Given the description of an element on the screen output the (x, y) to click on. 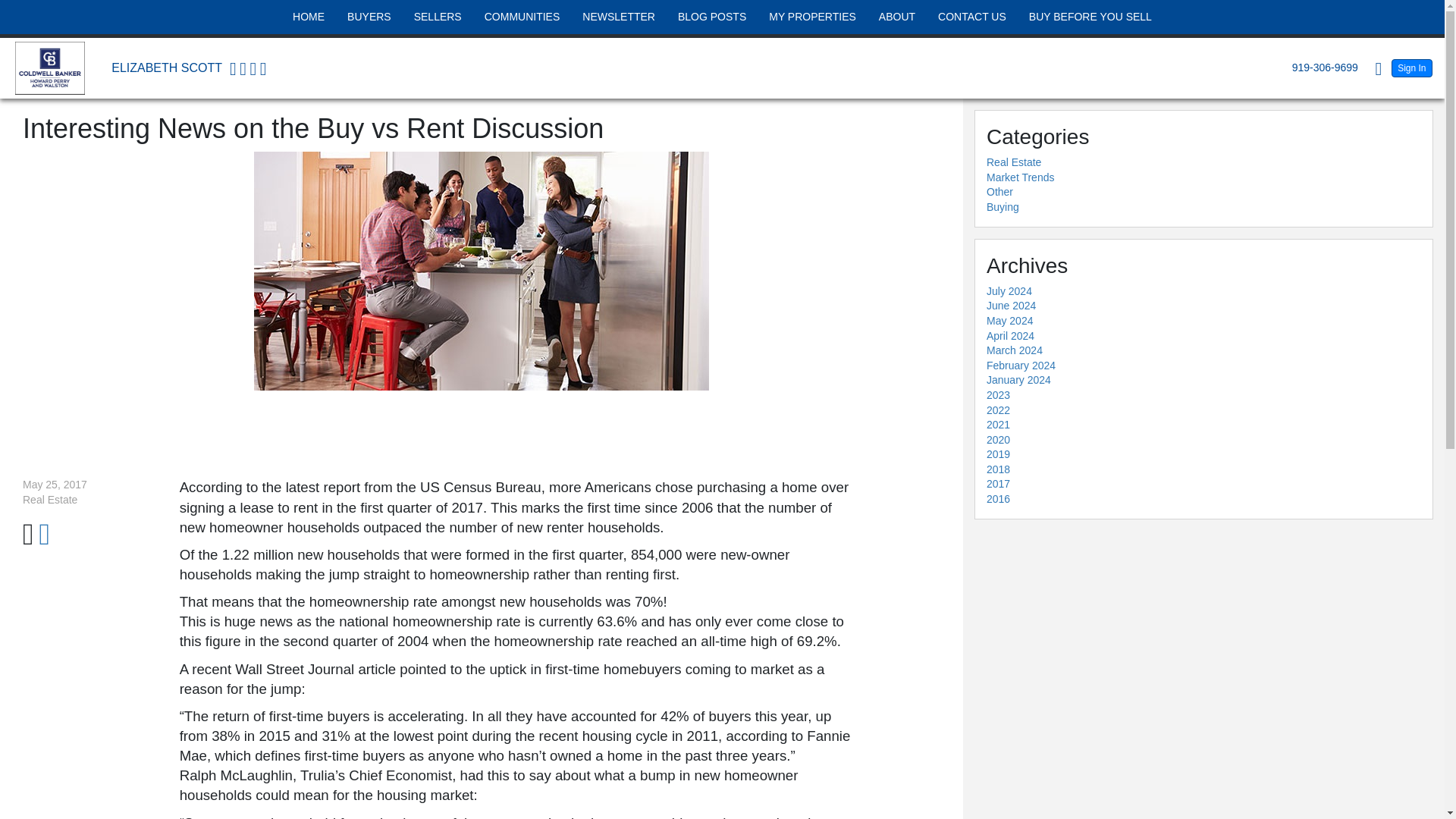
HOME (308, 17)
919-306-9699 (1321, 67)
CONTACT US (972, 17)
July 2024 (1009, 291)
Buying (1003, 206)
Other (1000, 191)
Real Estate (1014, 162)
COMMUNITIES (522, 17)
March 2024 (1014, 349)
ABOUT (896, 17)
Market Trends (1020, 177)
Sign In (1411, 67)
SELLERS (437, 17)
May 2024 (1009, 320)
NEWSLETTER (618, 17)
